Given the description of an element on the screen output the (x, y) to click on. 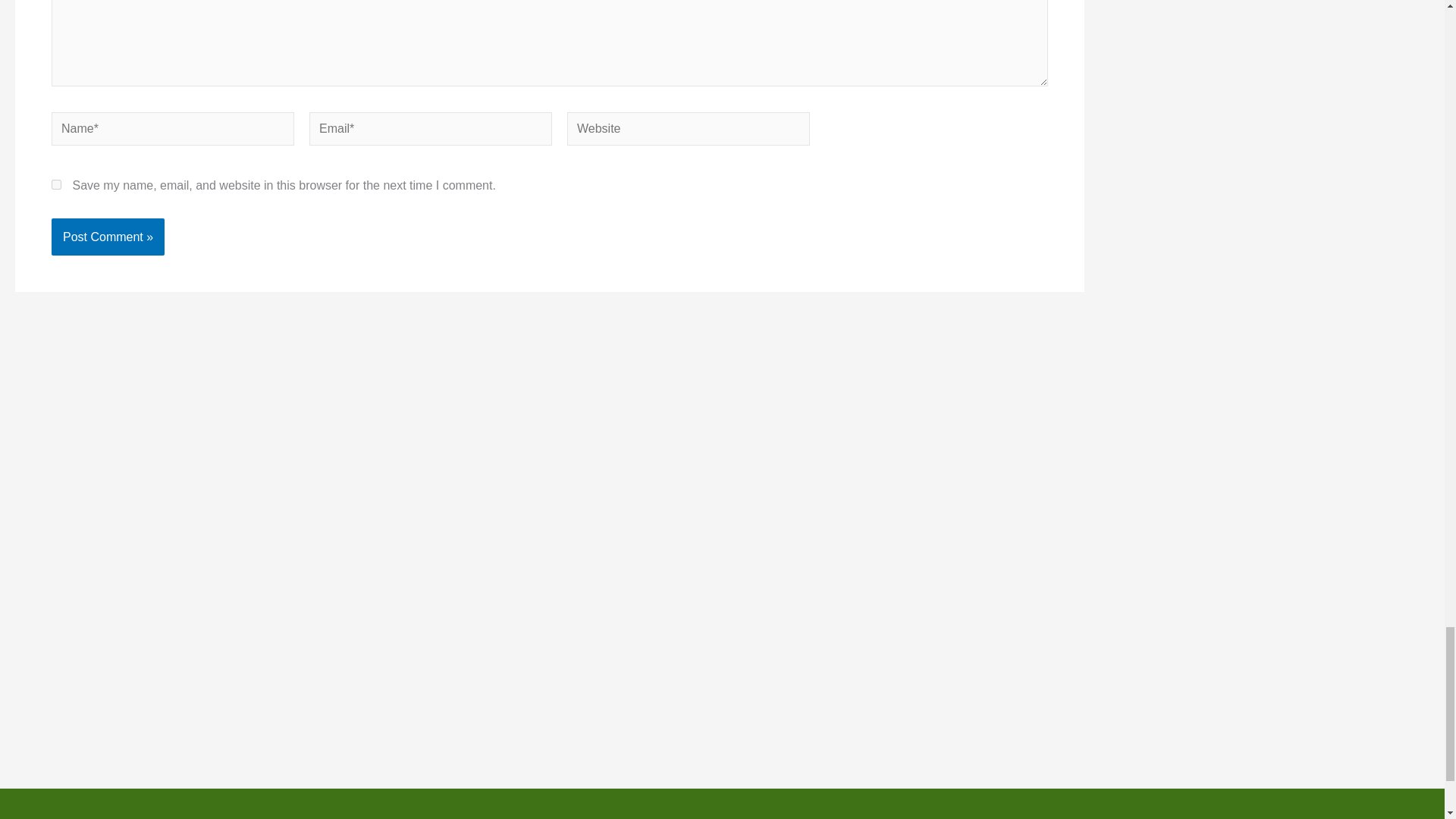
yes (55, 184)
